Given the description of an element on the screen output the (x, y) to click on. 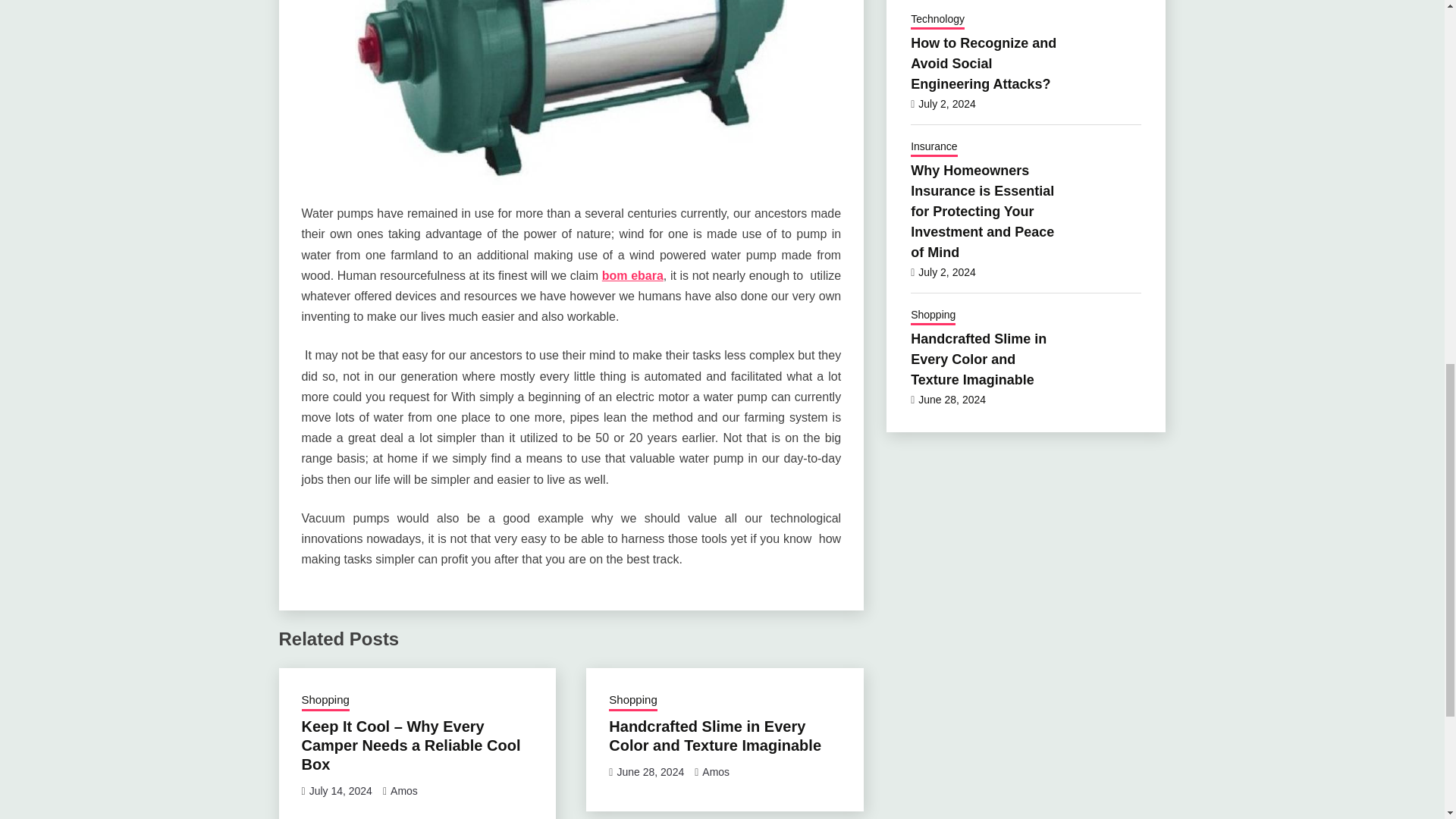
Amos (715, 771)
Technology (937, 20)
July 14, 2024 (340, 790)
How to Recognize and Avoid Social Engineering Attacks? (984, 63)
Amos (403, 790)
Handcrafted Slime in Every Color and Texture Imaginable (714, 735)
bom ebara (632, 275)
Shopping (325, 701)
Shopping (632, 701)
June 28, 2024 (649, 771)
